Given the description of an element on the screen output the (x, y) to click on. 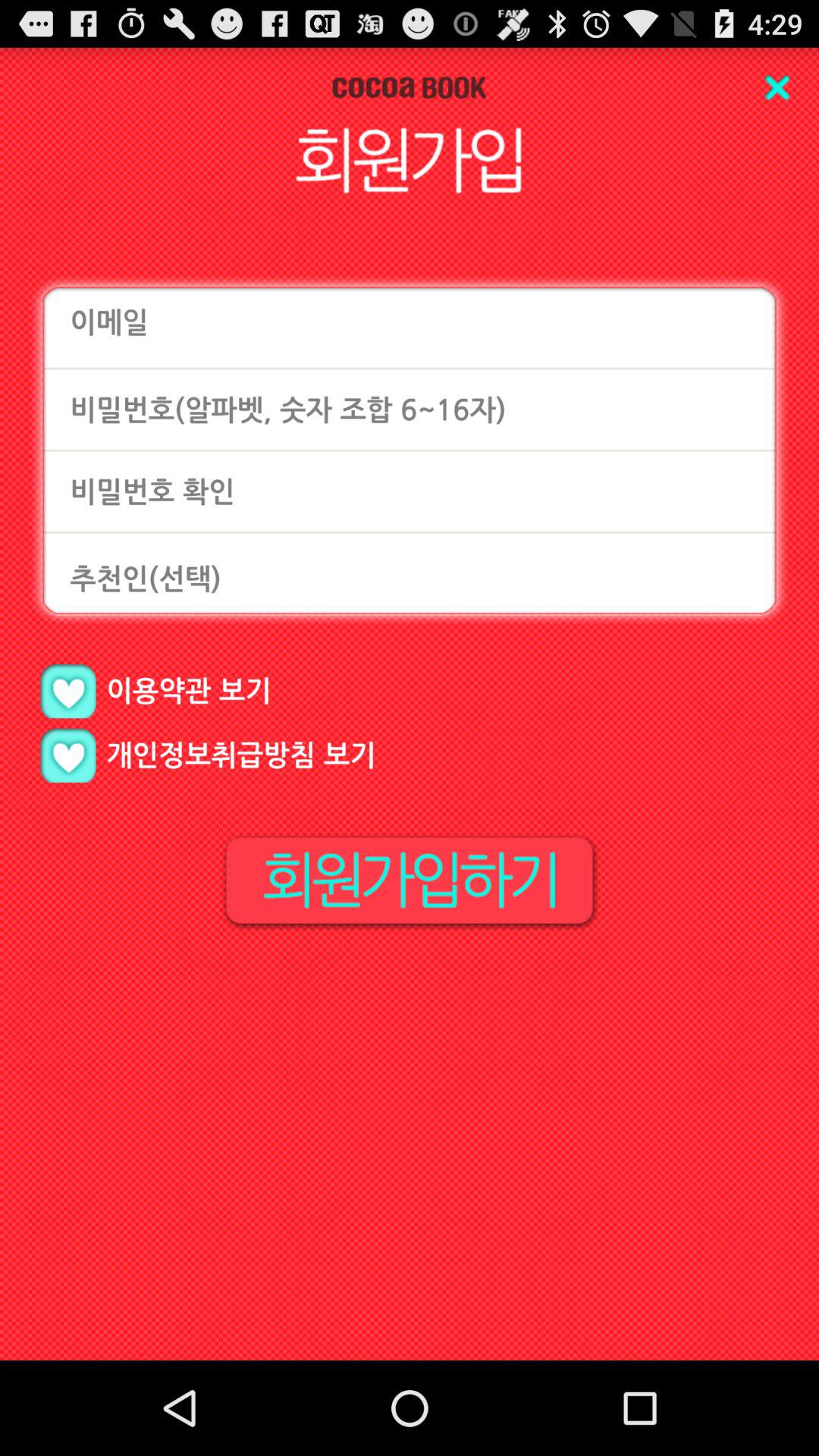
like this option (68, 691)
